Given the description of an element on the screen output the (x, y) to click on. 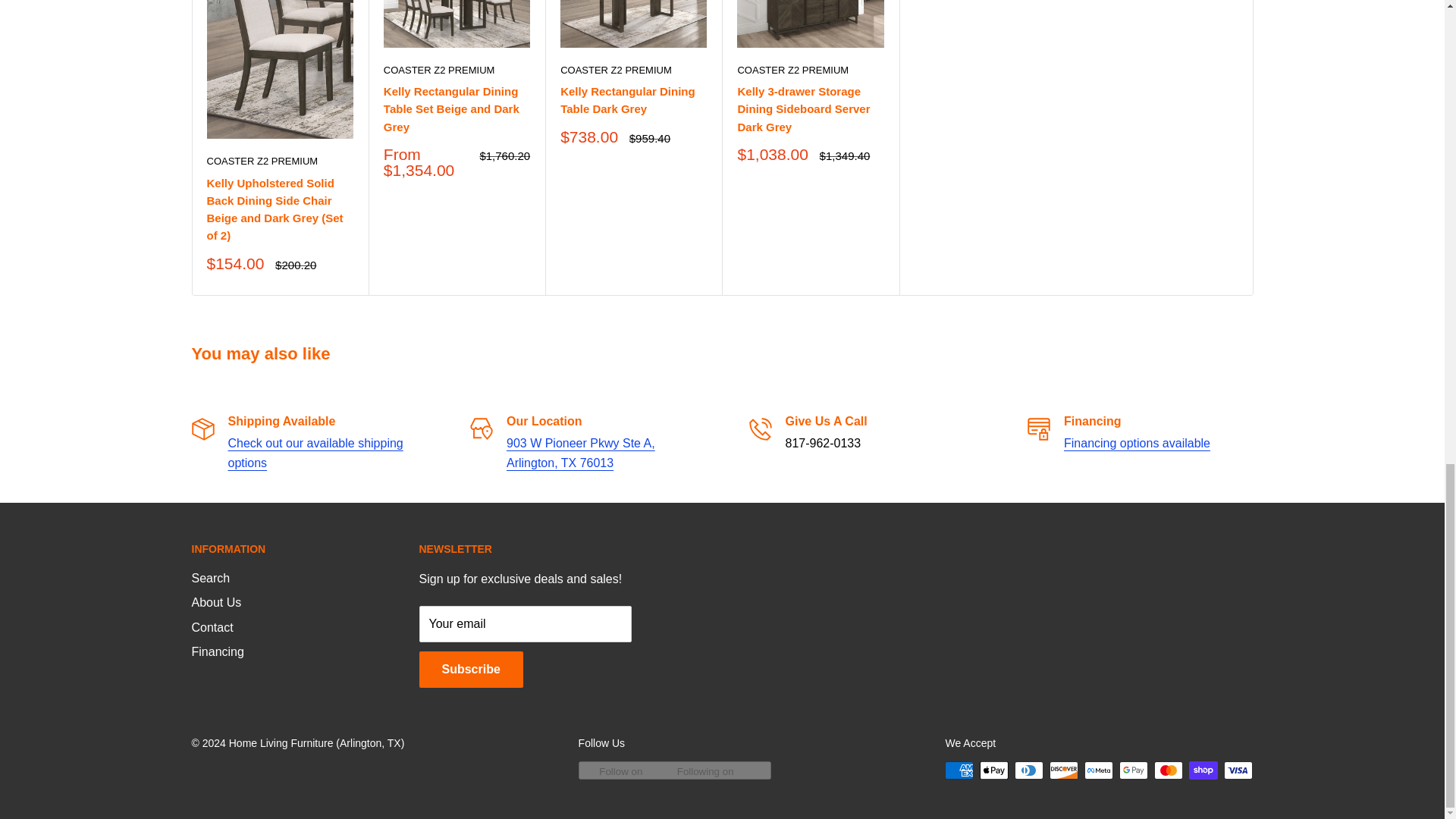
Financing (1136, 442)
Contact (315, 452)
Contact (580, 452)
